Given the description of an element on the screen output the (x, y) to click on. 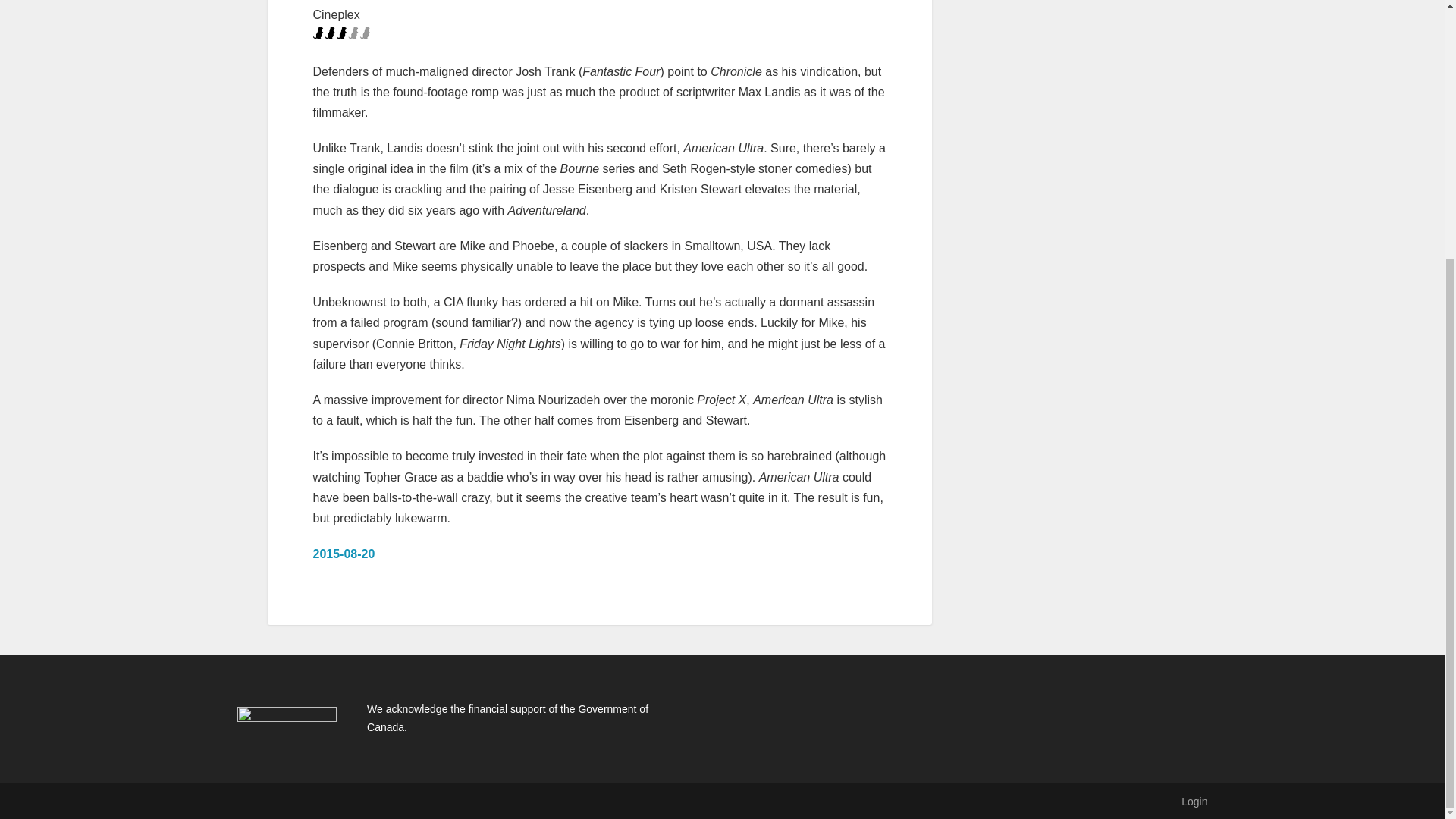
Elegant Themes (336, 800)
2015-08-20 (343, 553)
Premium WordPress Themes (336, 800)
Login (1193, 801)
WordPress (467, 800)
